Given the description of an element on the screen output the (x, y) to click on. 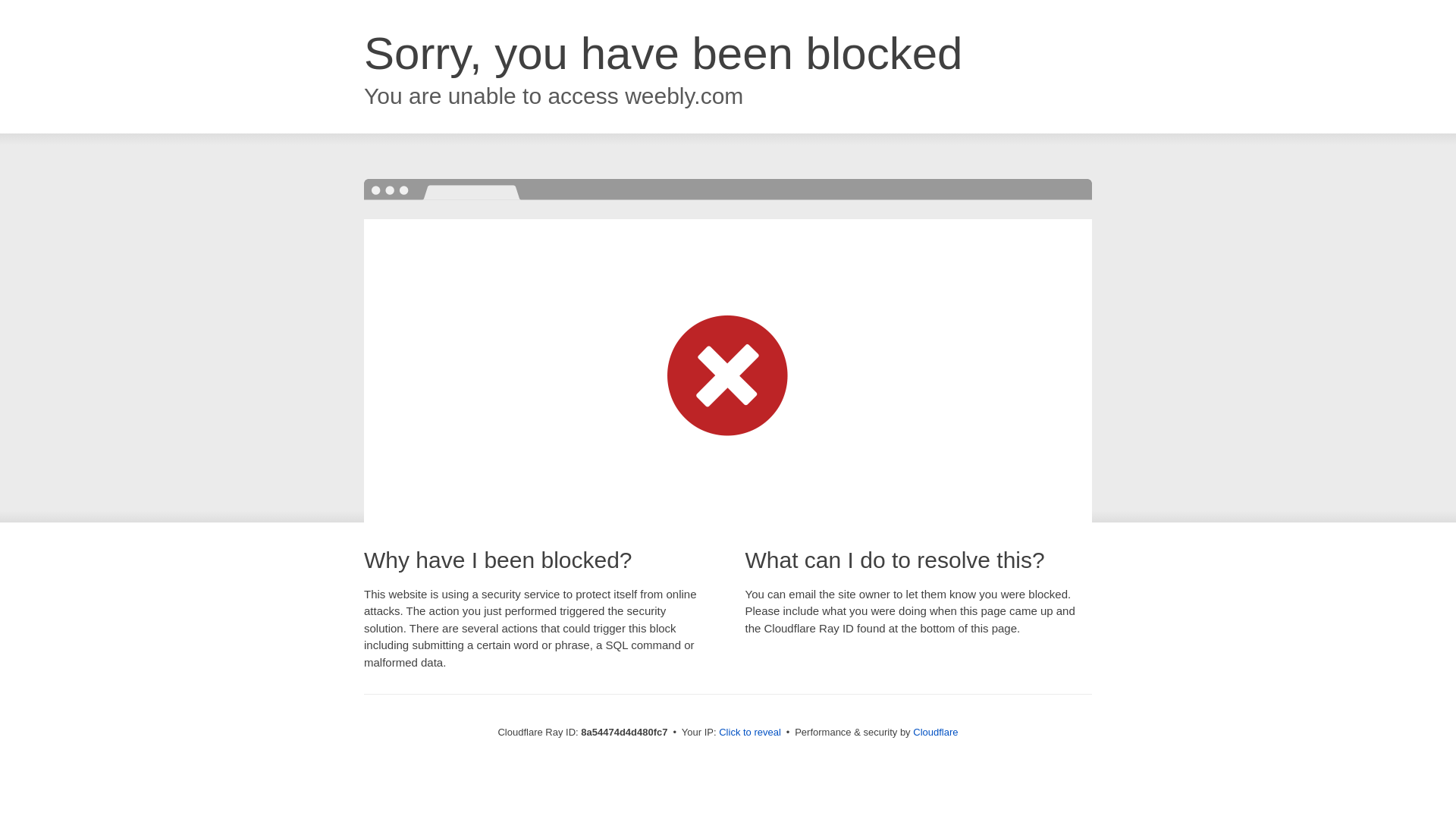
Click to reveal (749, 732)
Cloudflare (935, 731)
